Given the description of an element on the screen output the (x, y) to click on. 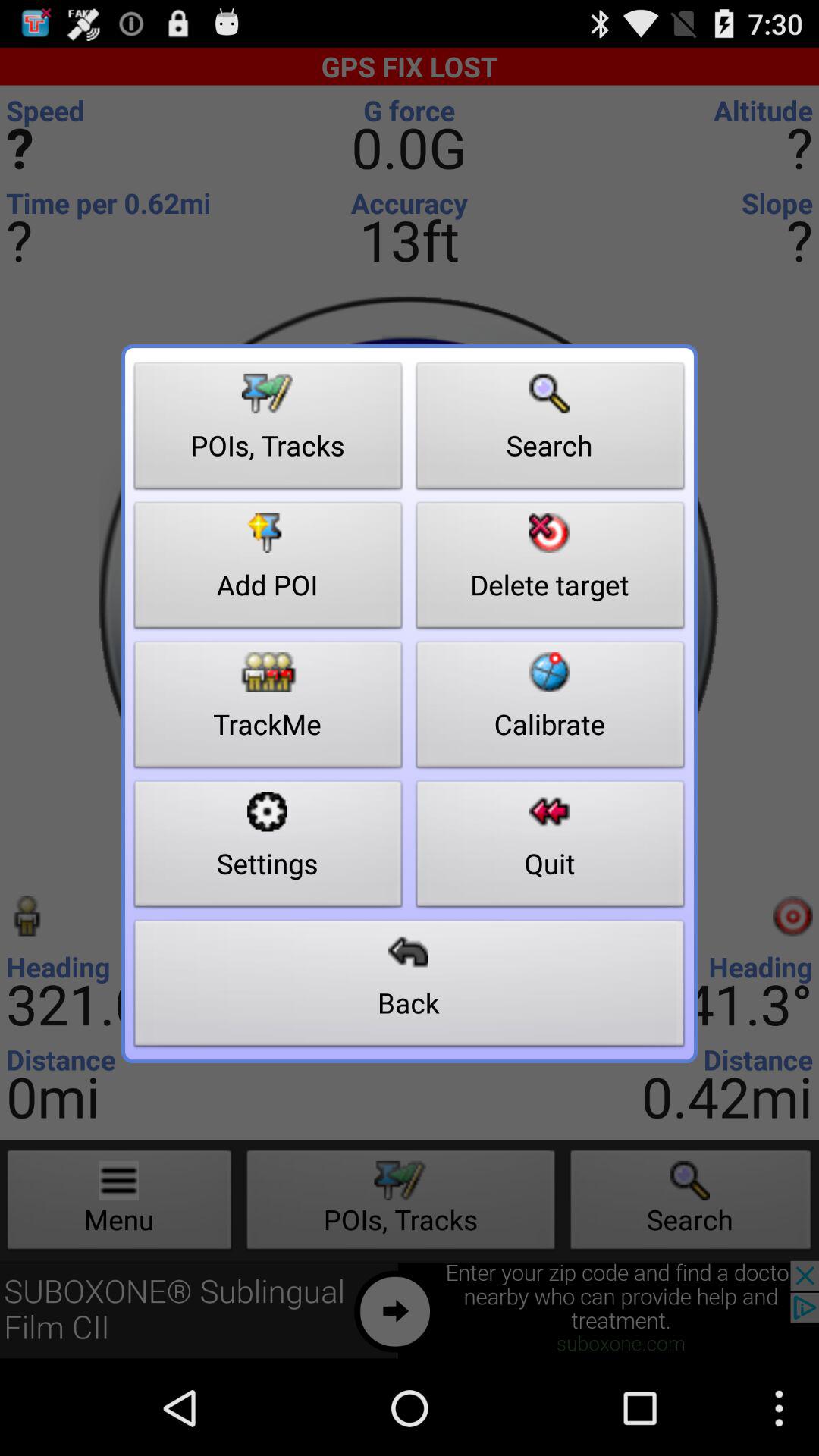
jump until the search button (550, 429)
